Given the description of an element on the screen output the (x, y) to click on. 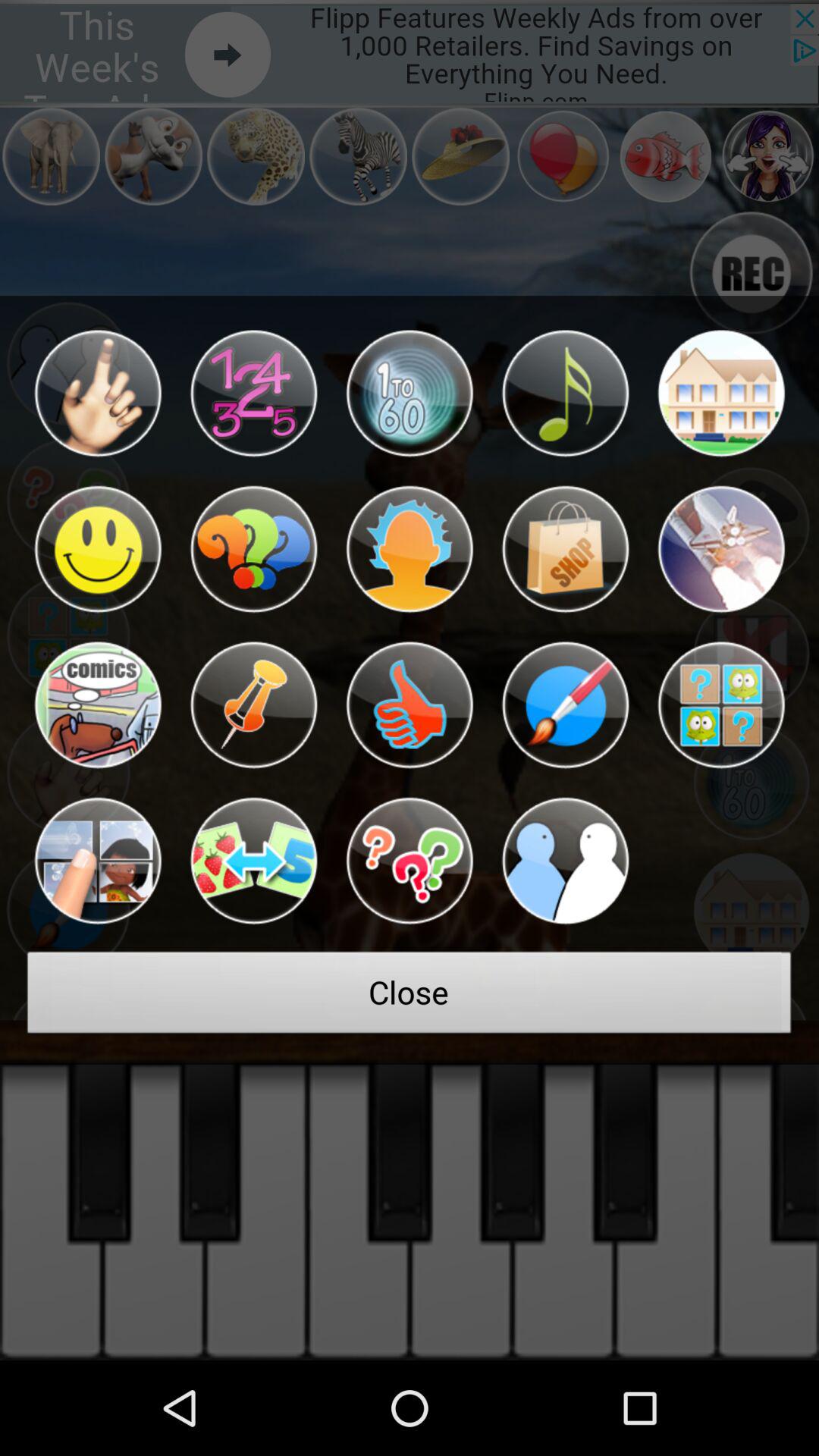
share the article (565, 549)
